Given the description of an element on the screen output the (x, y) to click on. 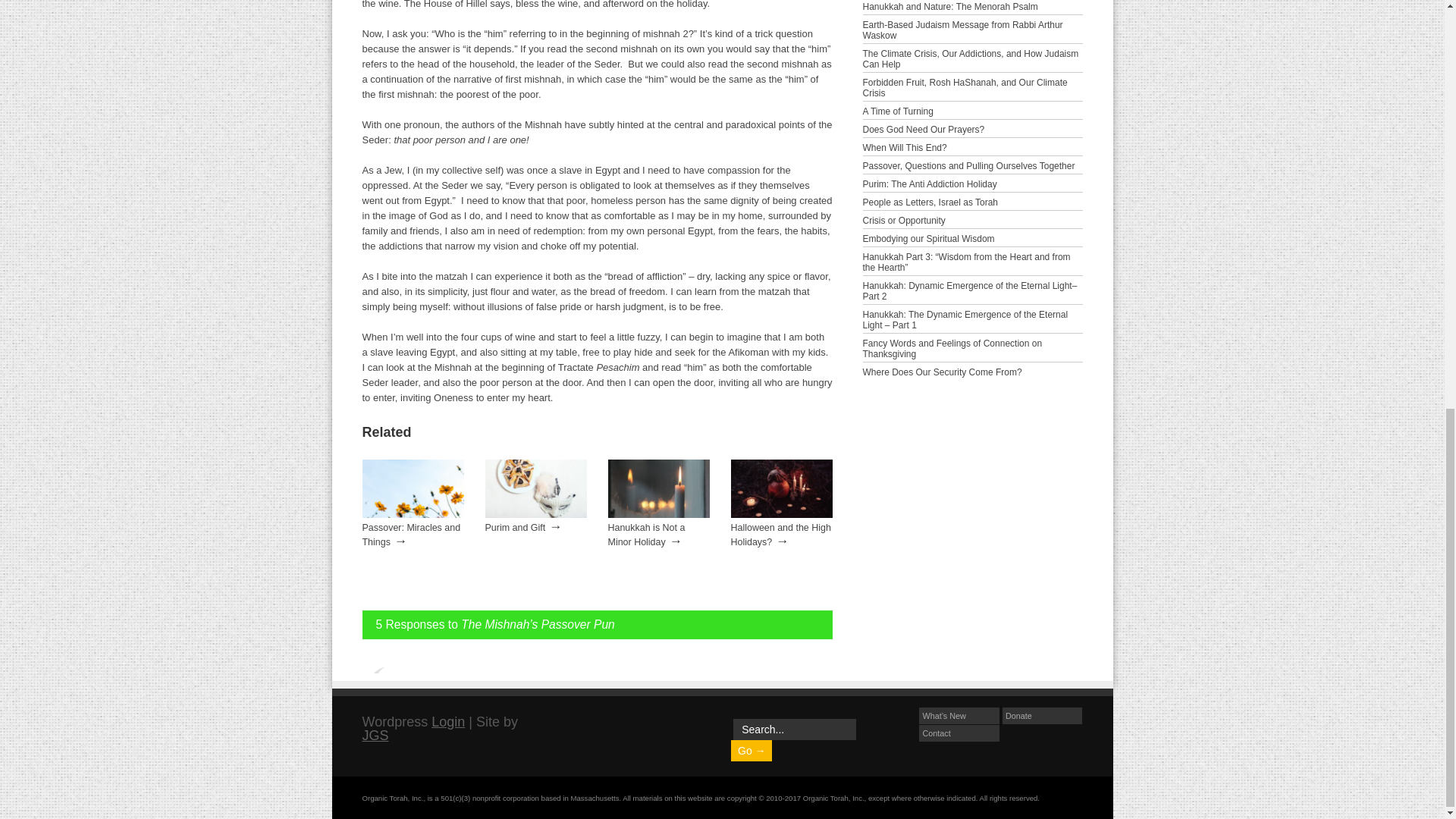
Search... (794, 729)
Halloween and the High Holidays? (780, 534)
Search... (794, 729)
Halloween and the High Holidays? (780, 534)
Purim and Gift (515, 527)
Halloween and the High Holidays? (781, 514)
Passover: Miracles and Things (411, 534)
Purim and Gift (515, 527)
Hanukkah is Not a Minor Holiday (659, 514)
Purim and Gift (535, 514)
